Given the description of an element on the screen output the (x, y) to click on. 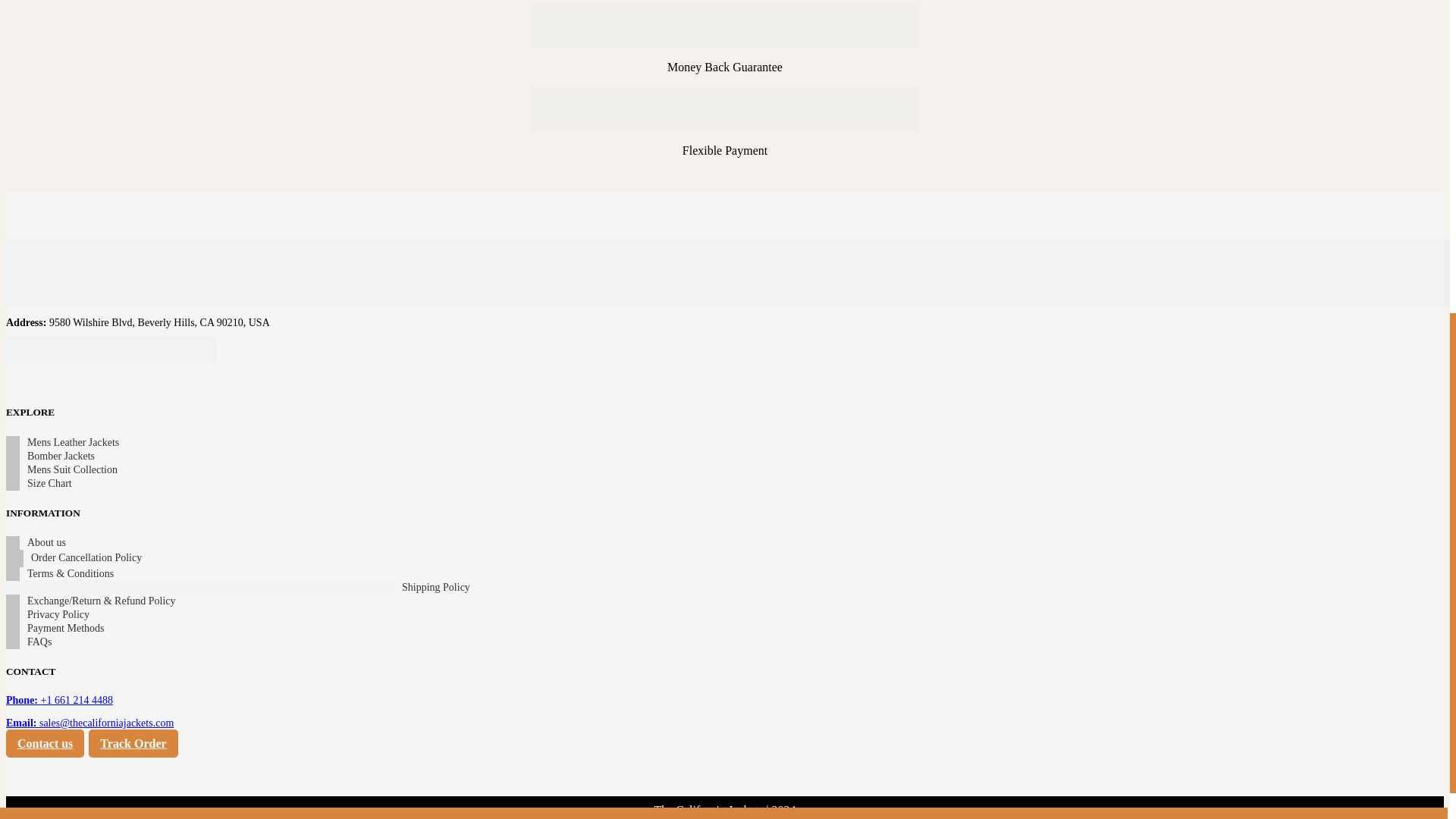
Order Cancellation Policy (816, 537)
About us (776, 512)
Privacy Policy (788, 662)
Bomber Jackets (441, 537)
Shipping Policy (1089, 600)
Mens Leather Jackets (453, 512)
Mens Suit Collection (452, 563)
FAQs (769, 713)
Contact us (1124, 561)
The California Jackets (709, 799)
